Given the description of an element on the screen output the (x, y) to click on. 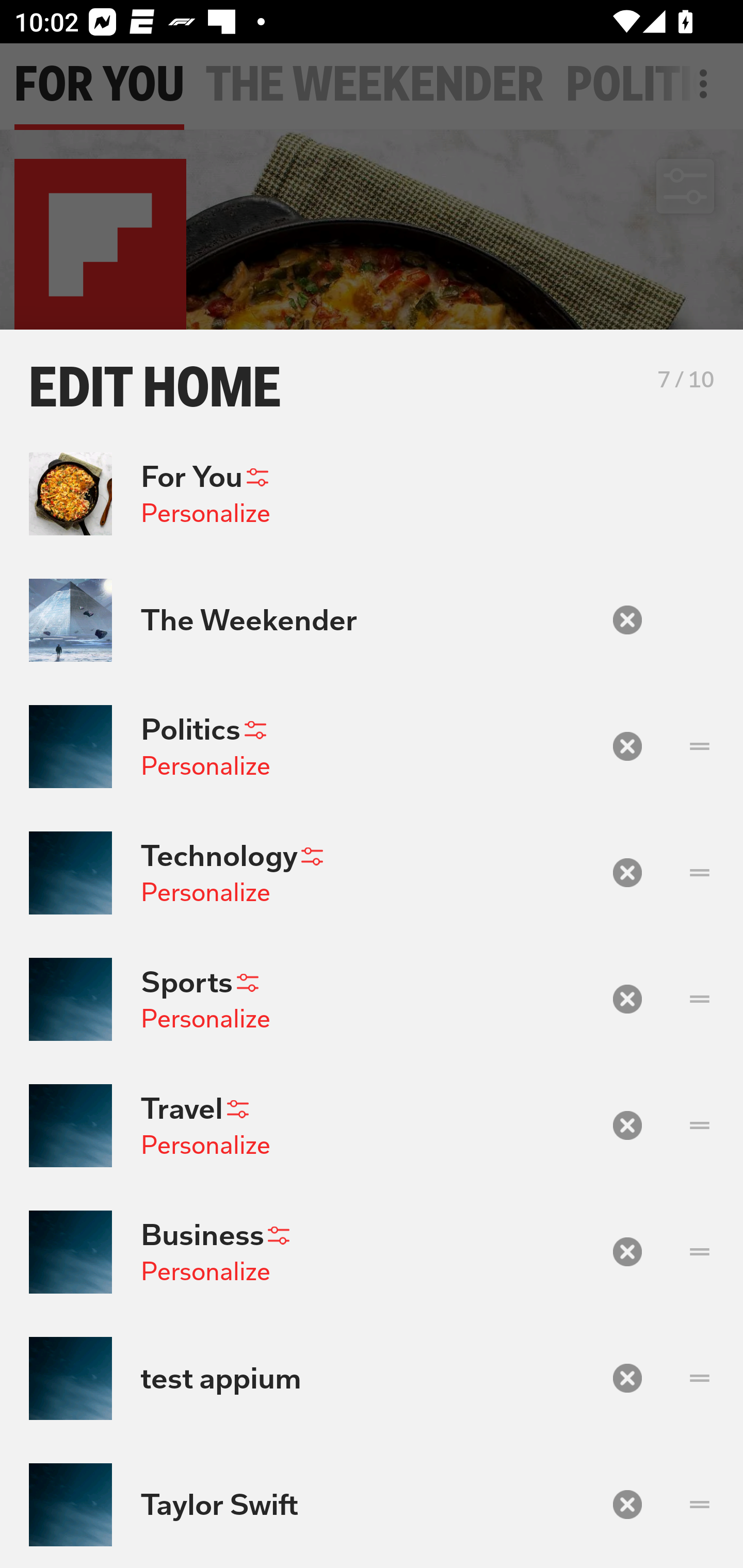
Personalize (205, 512)
Personalize (205, 765)
Personalize (205, 891)
Personalize (205, 1018)
Personalize (205, 1144)
Personalize (205, 1271)
